Given the description of an element on the screen output the (x, y) to click on. 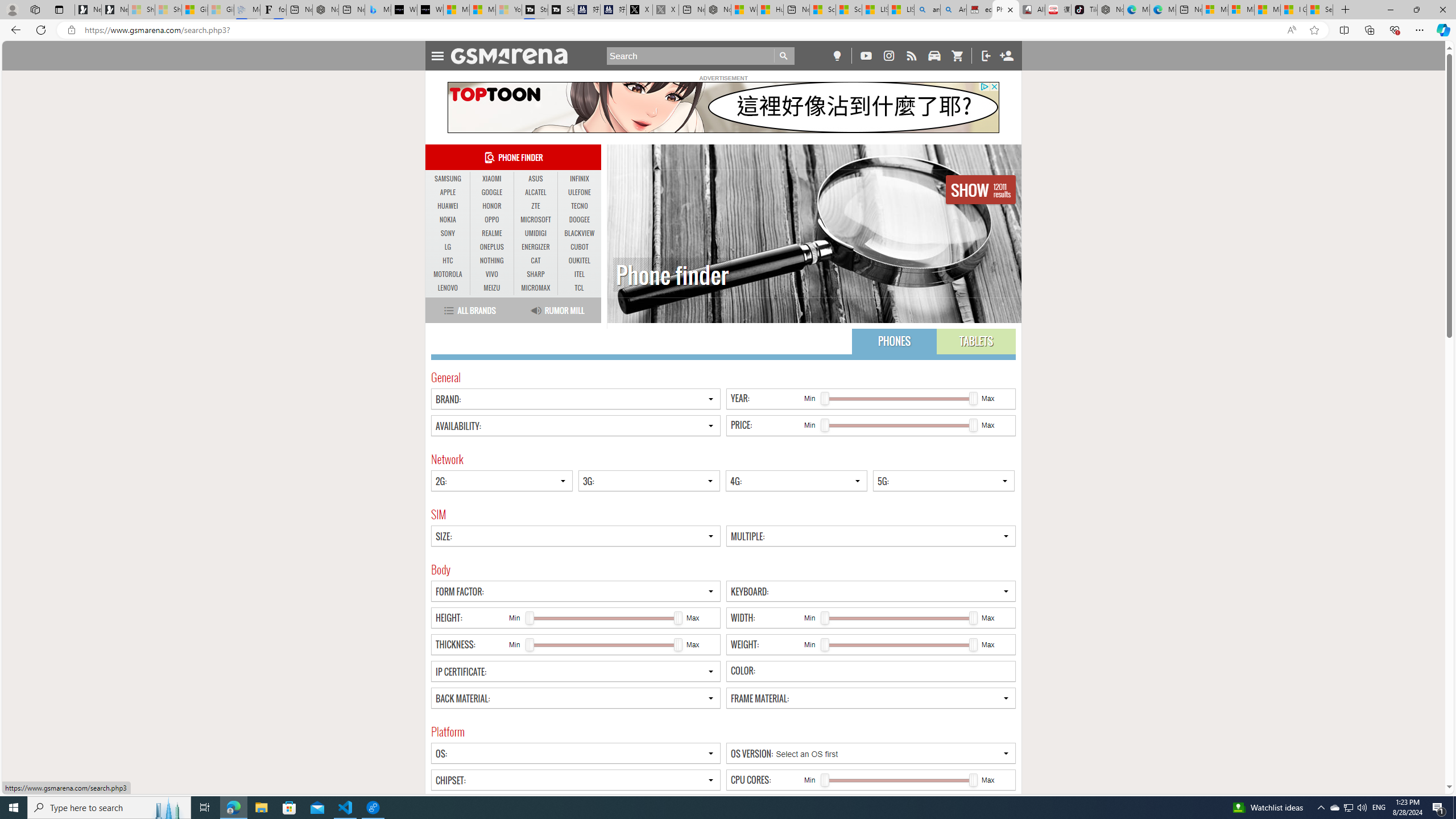
LG (448, 246)
NOTHING (491, 260)
